Given the description of an element on the screen output the (x, y) to click on. 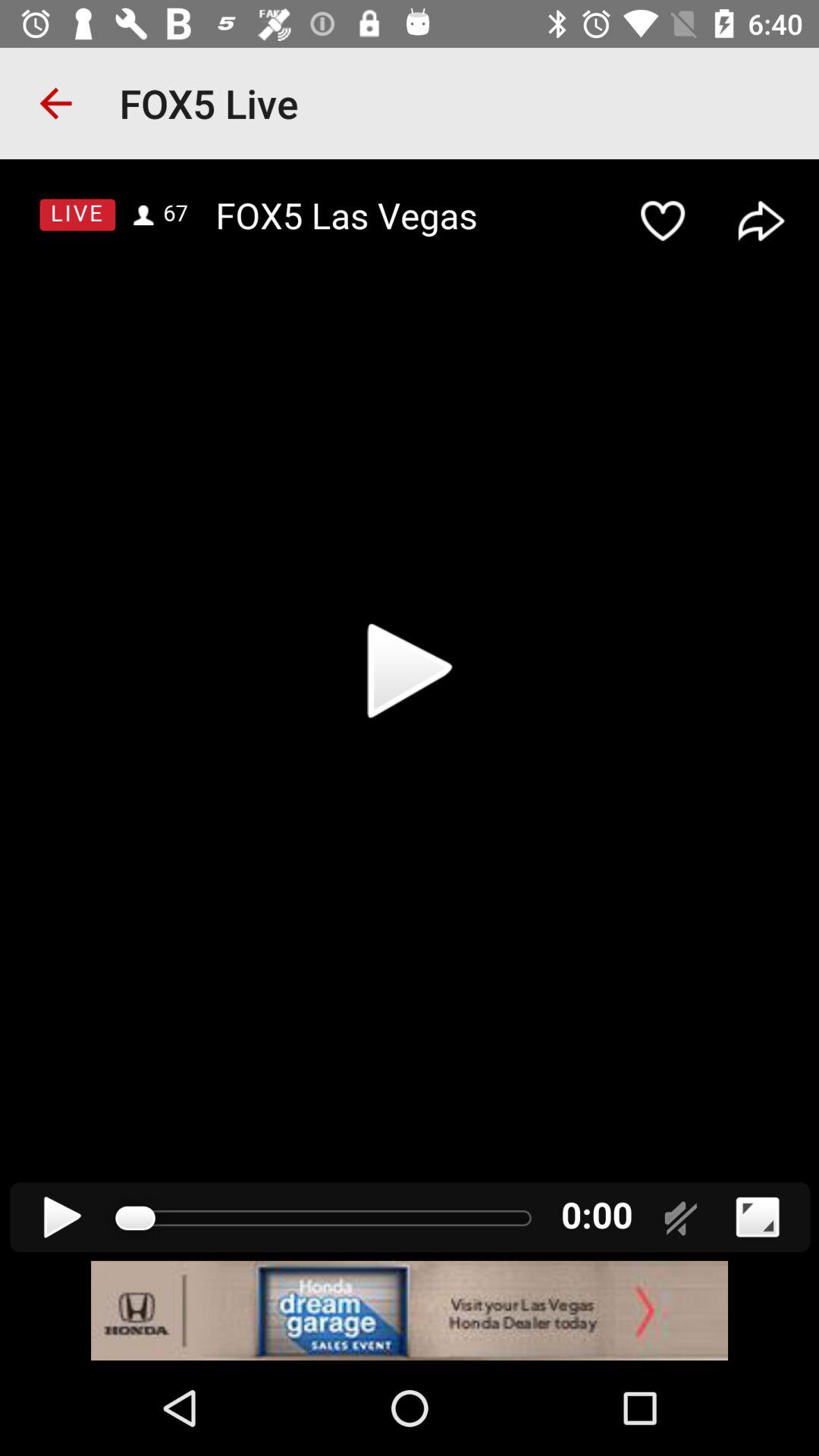
play video (409, 709)
